Given the description of an element on the screen output the (x, y) to click on. 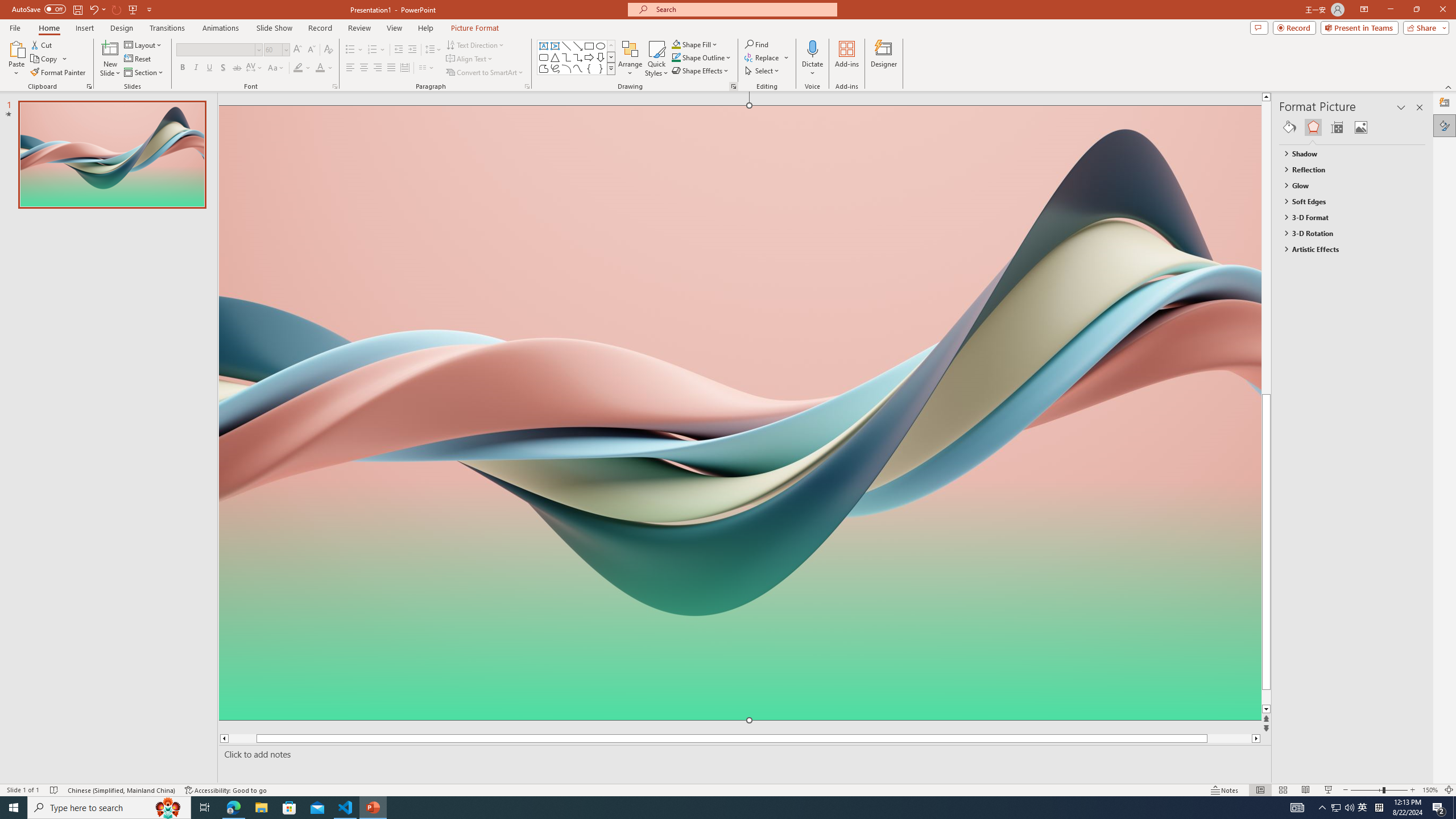
Accessibility Checker Accessibility: Good to go (226, 790)
